Given the description of an element on the screen output the (x, y) to click on. 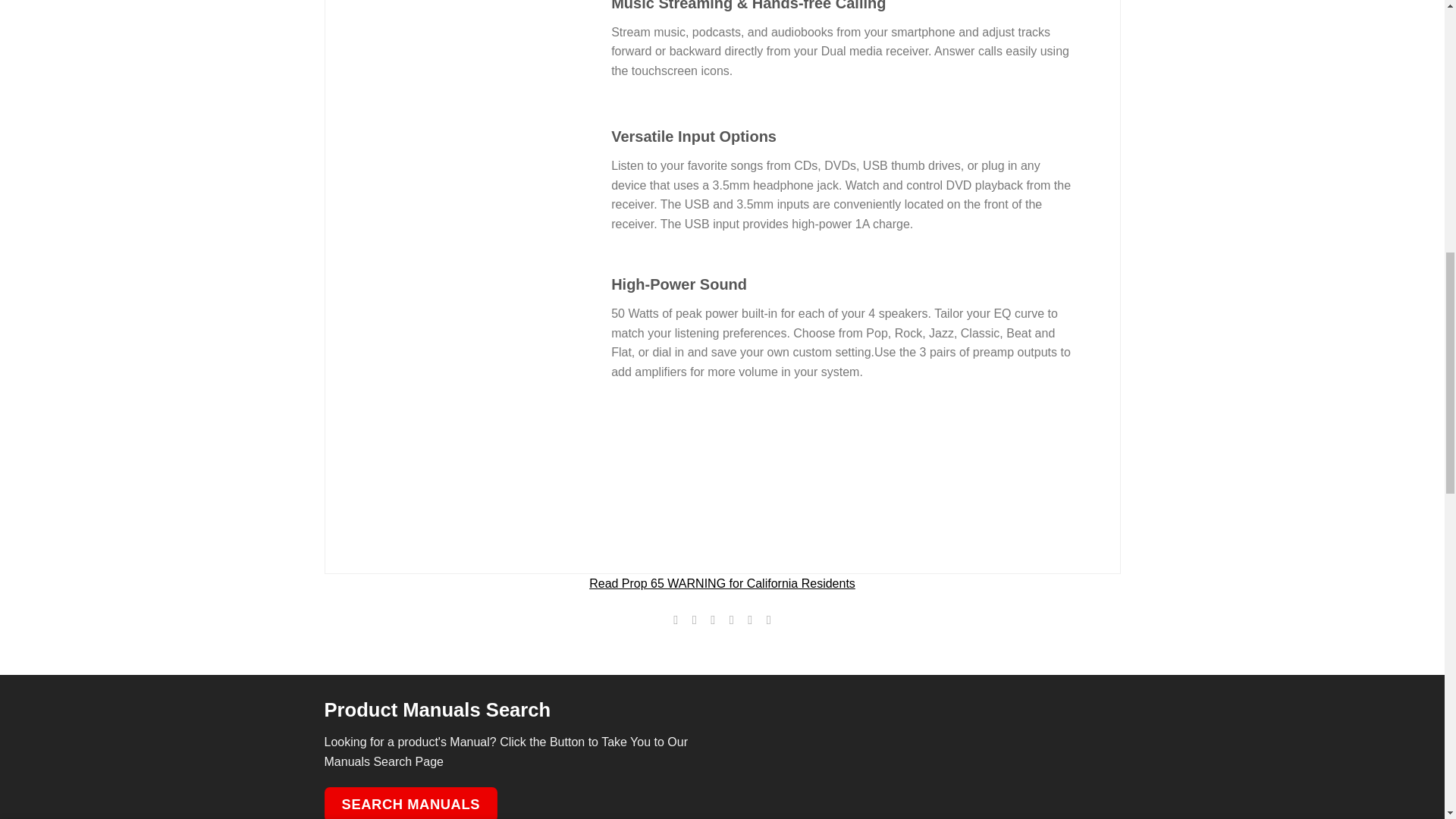
Share on Twitter (694, 619)
Share on Tumblr (768, 619)
Email to a Friend (712, 619)
Pin on Pinterest (731, 619)
Share on Facebook (675, 619)
Share on LinkedIn (749, 619)
